Given the description of an element on the screen output the (x, y) to click on. 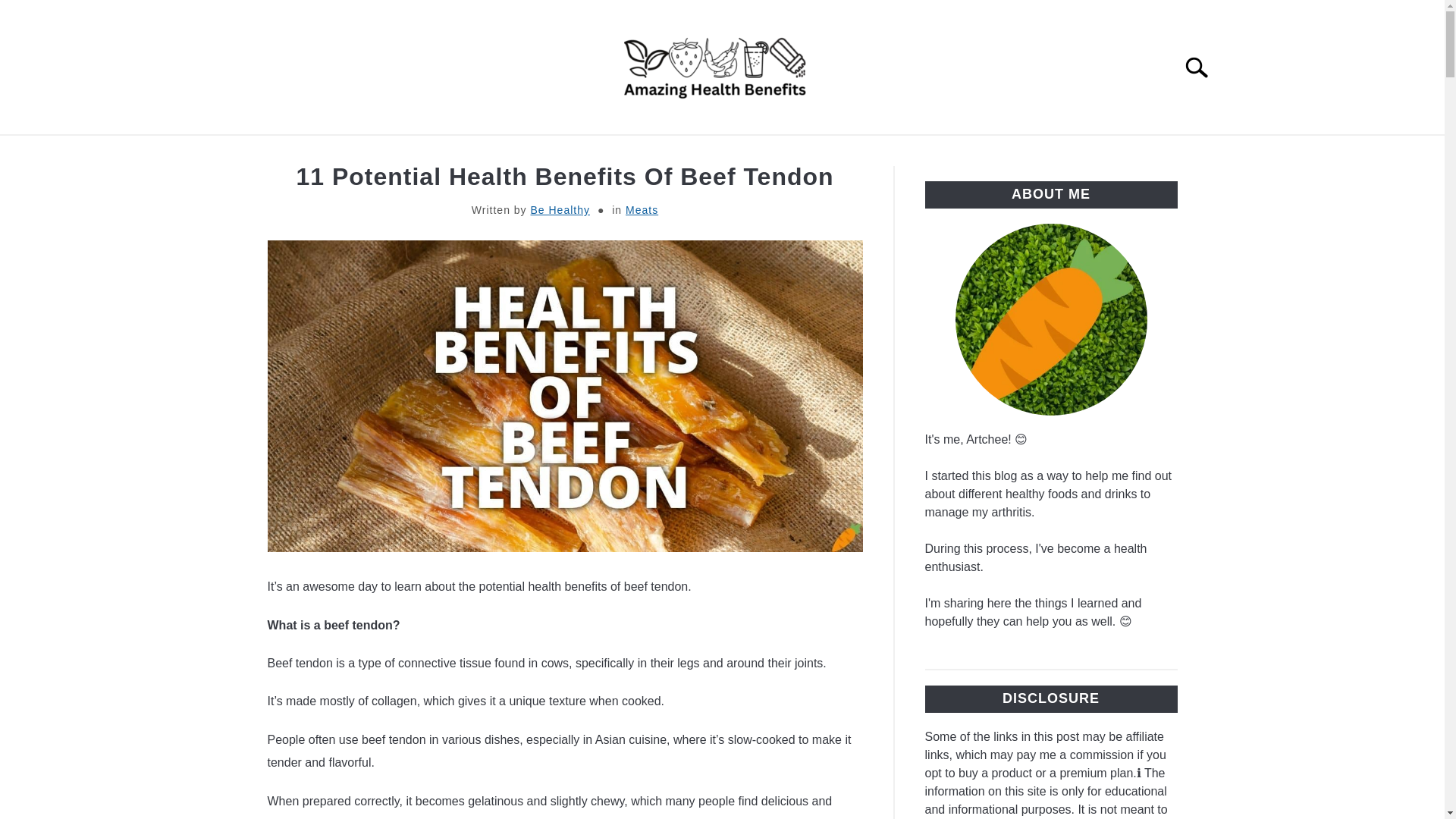
HERBS (674, 152)
HOME (314, 152)
SAUCES (393, 152)
FRUITS (596, 152)
Search (1203, 67)
Be Healthy (560, 209)
Meats (642, 209)
CONDIMENTS (854, 152)
VEGETABLES (496, 152)
DAIRIES (958, 152)
DRINKS (1042, 152)
GRAINS (1124, 152)
SPICES (753, 152)
